Given the description of an element on the screen output the (x, y) to click on. 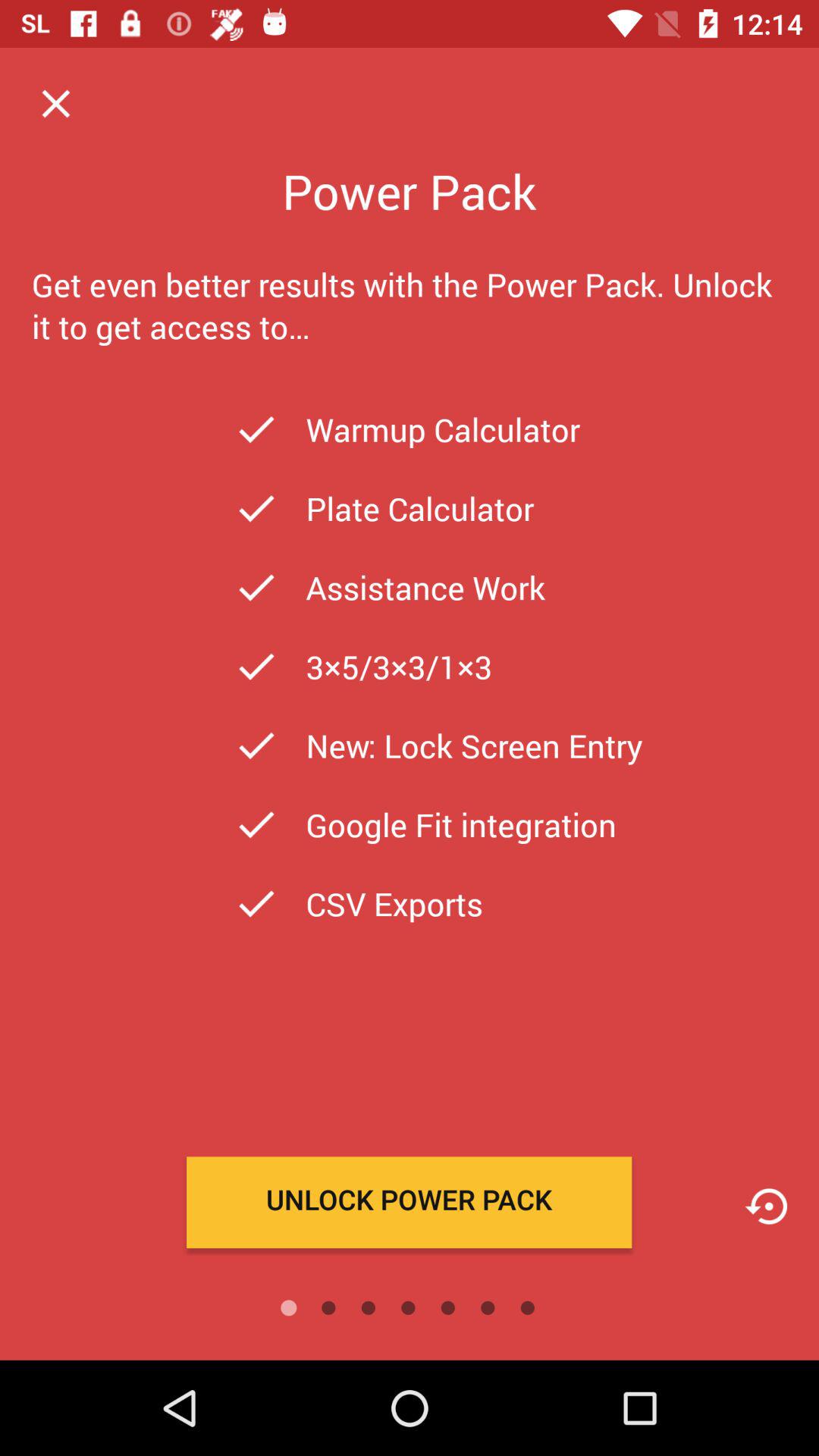
icon page (766, 1206)
